Given the description of an element on the screen output the (x, y) to click on. 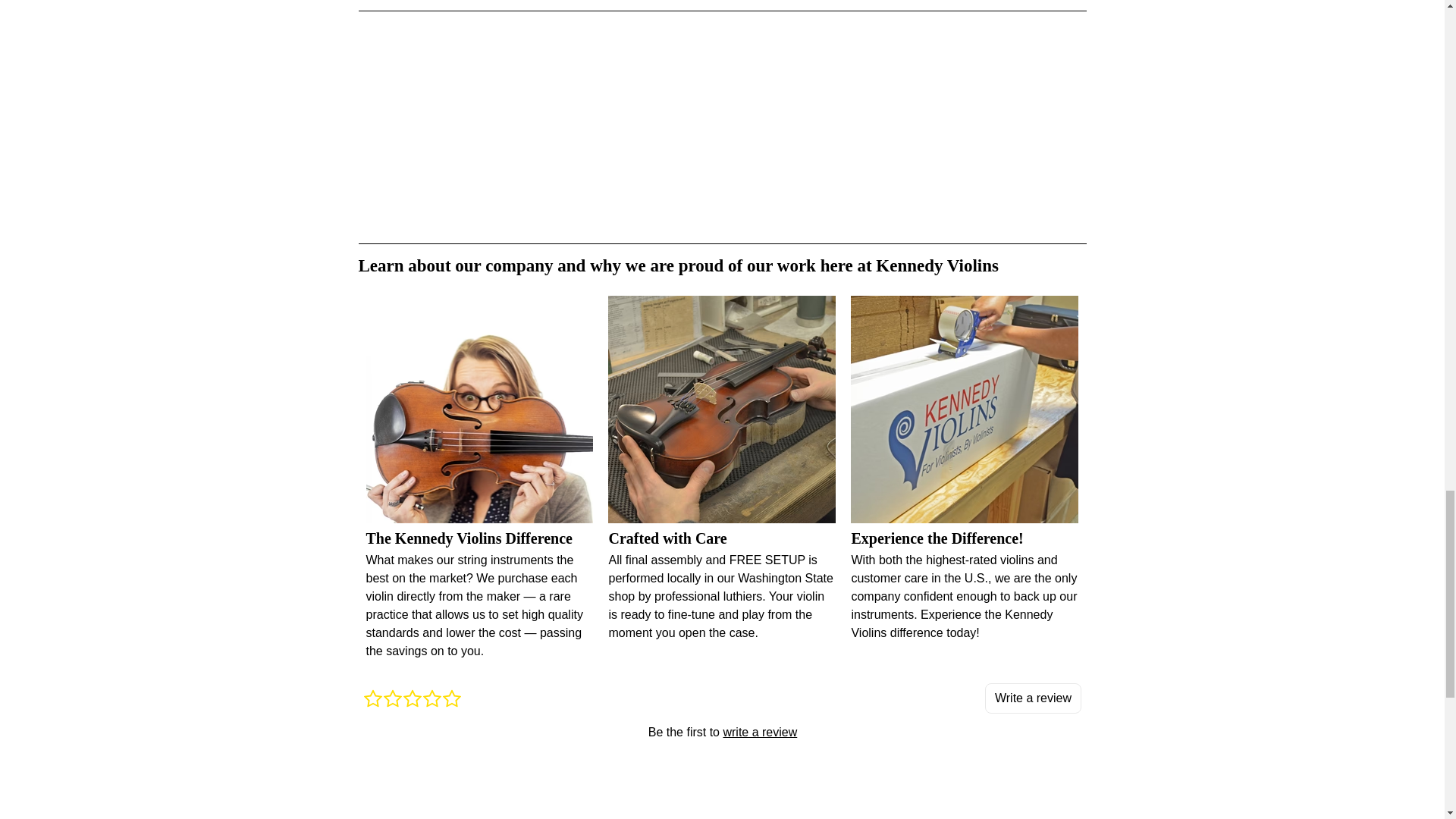
Product reviews widget (722, 731)
